Given the description of an element on the screen output the (x, y) to click on. 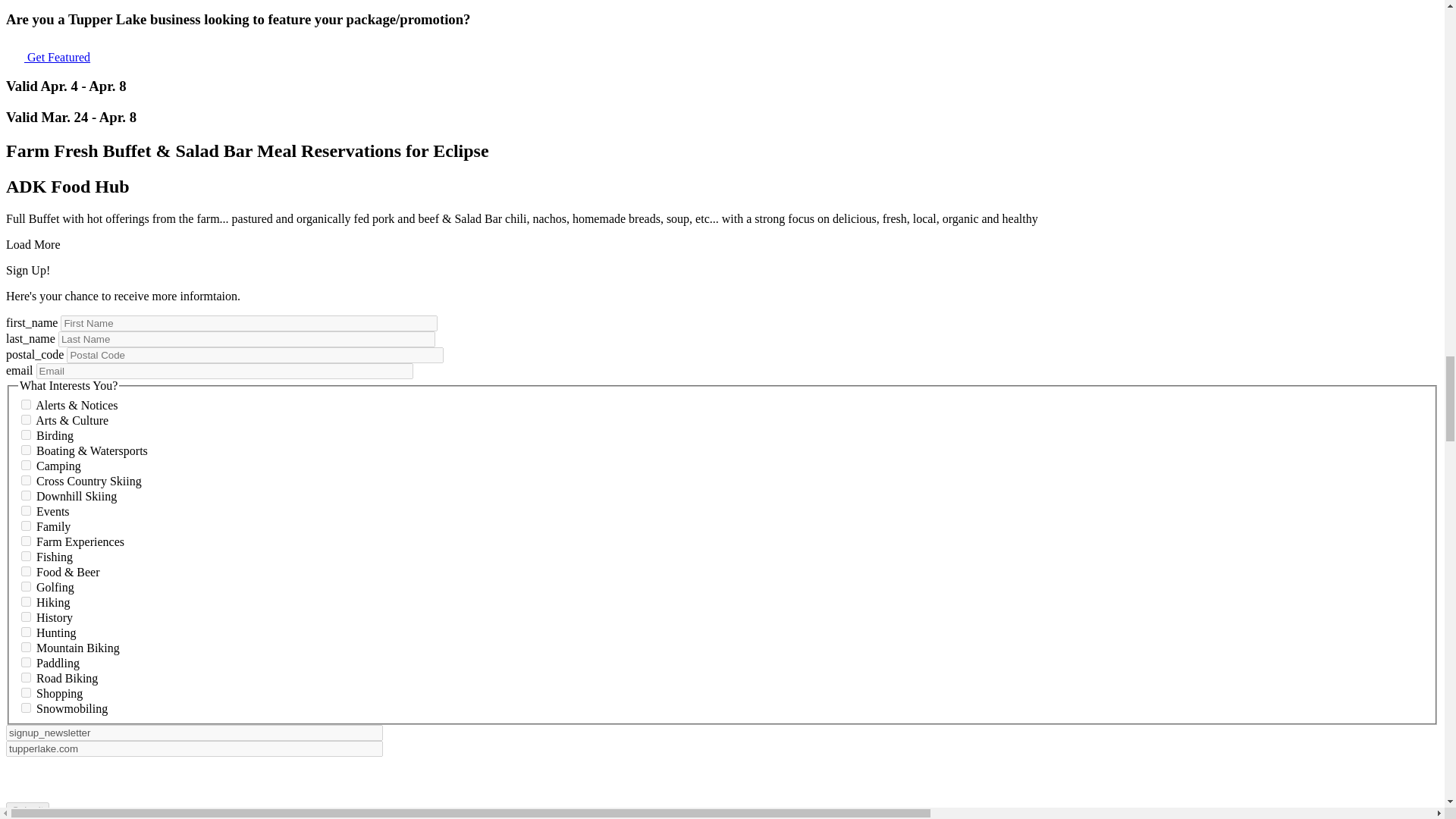
birding (25, 433)
agritourism (25, 540)
camping (25, 464)
arts (25, 419)
xcski (25, 479)
fishing (25, 555)
boating (25, 449)
ski (25, 494)
family (25, 524)
alerts (25, 403)
events (25, 510)
